Given the description of an element on the screen output the (x, y) to click on. 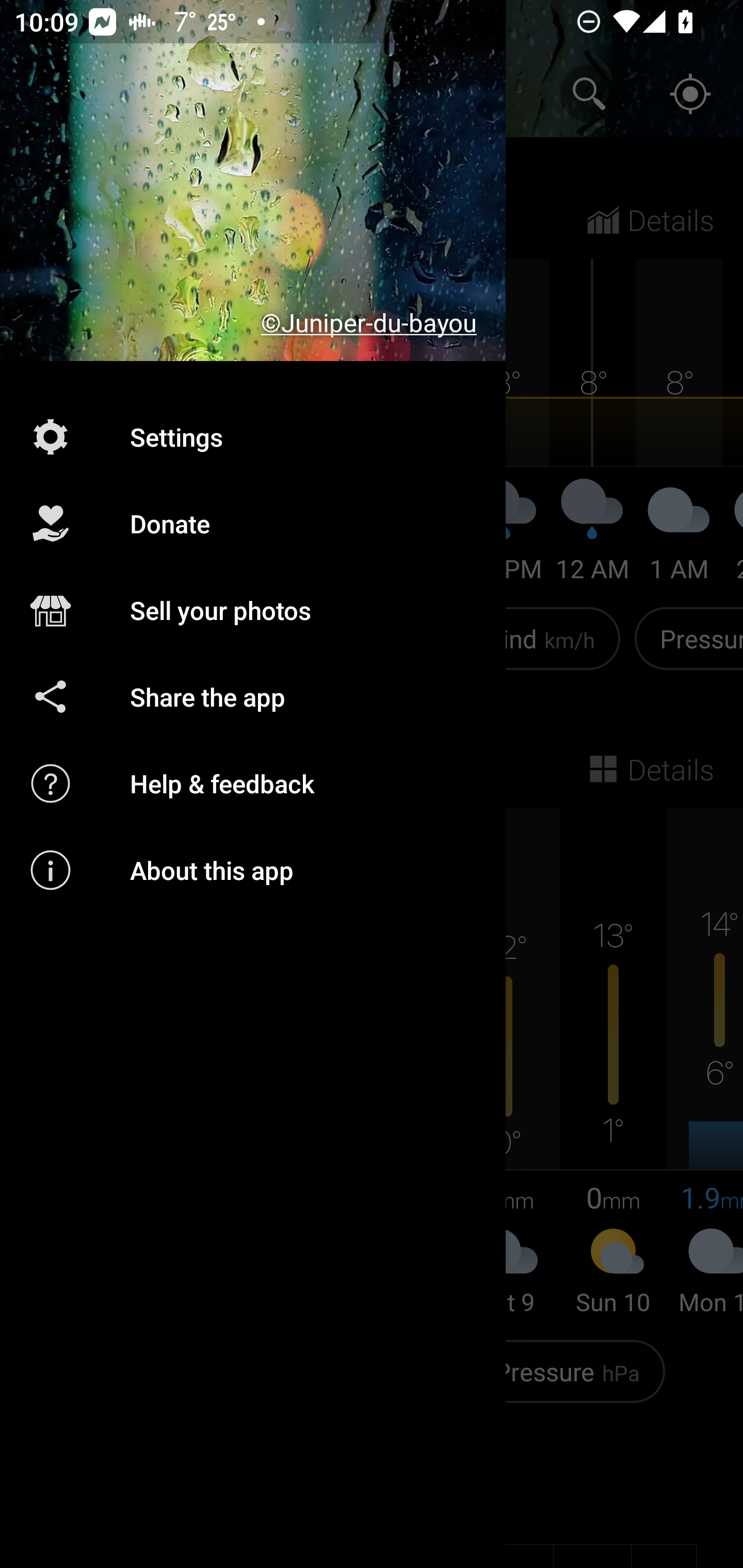
©Juniper-du-bayou (252, 180)
Settings (252, 436)
Donate (252, 523)
Sell your photos (252, 610)
Share the app (252, 696)
Help & feedback (252, 783)
